Given the description of an element on the screen output the (x, y) to click on. 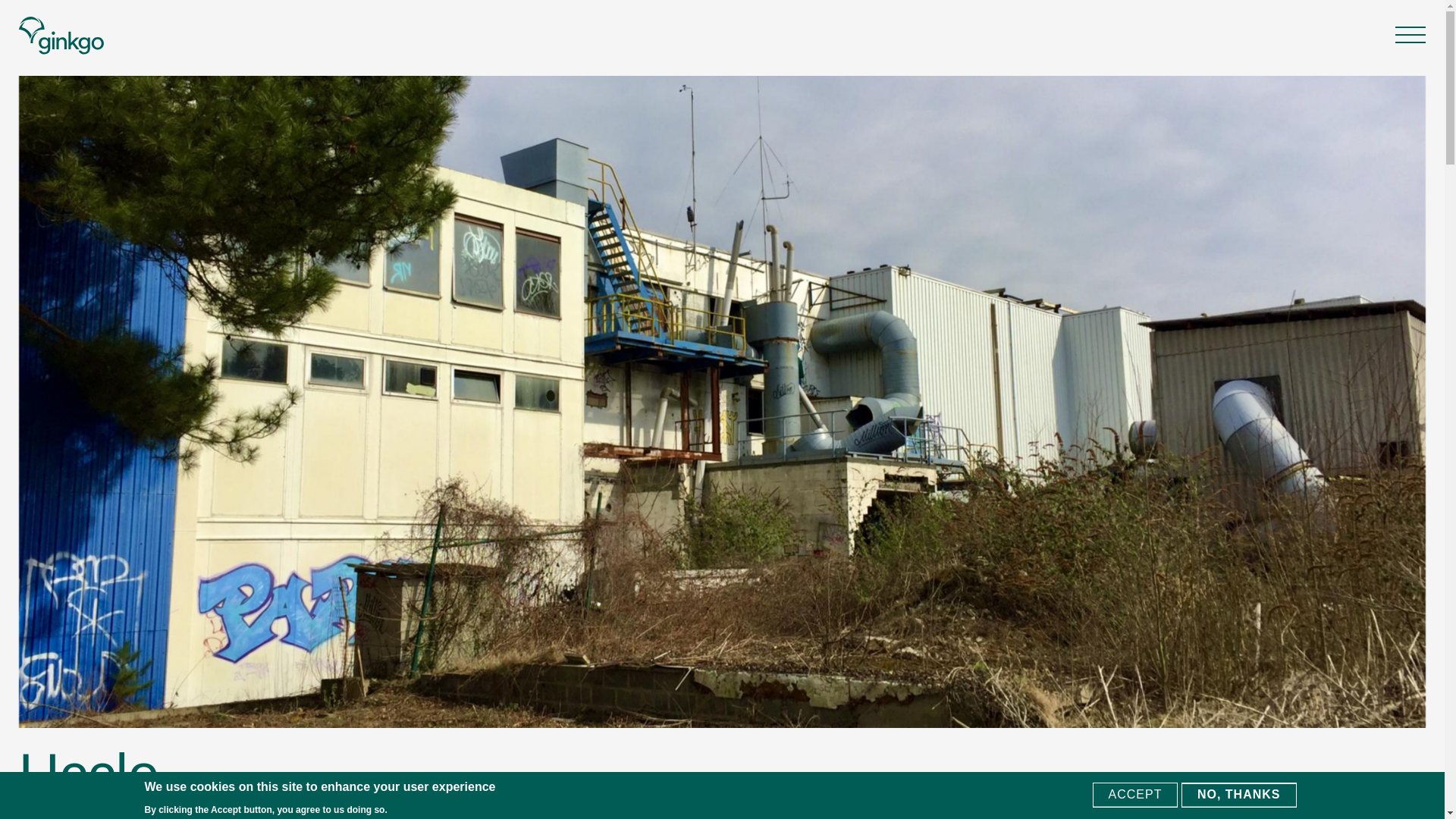
NO, THANKS (1238, 794)
Home (60, 35)
ACCEPT (1135, 794)
